Given the description of an element on the screen output the (x, y) to click on. 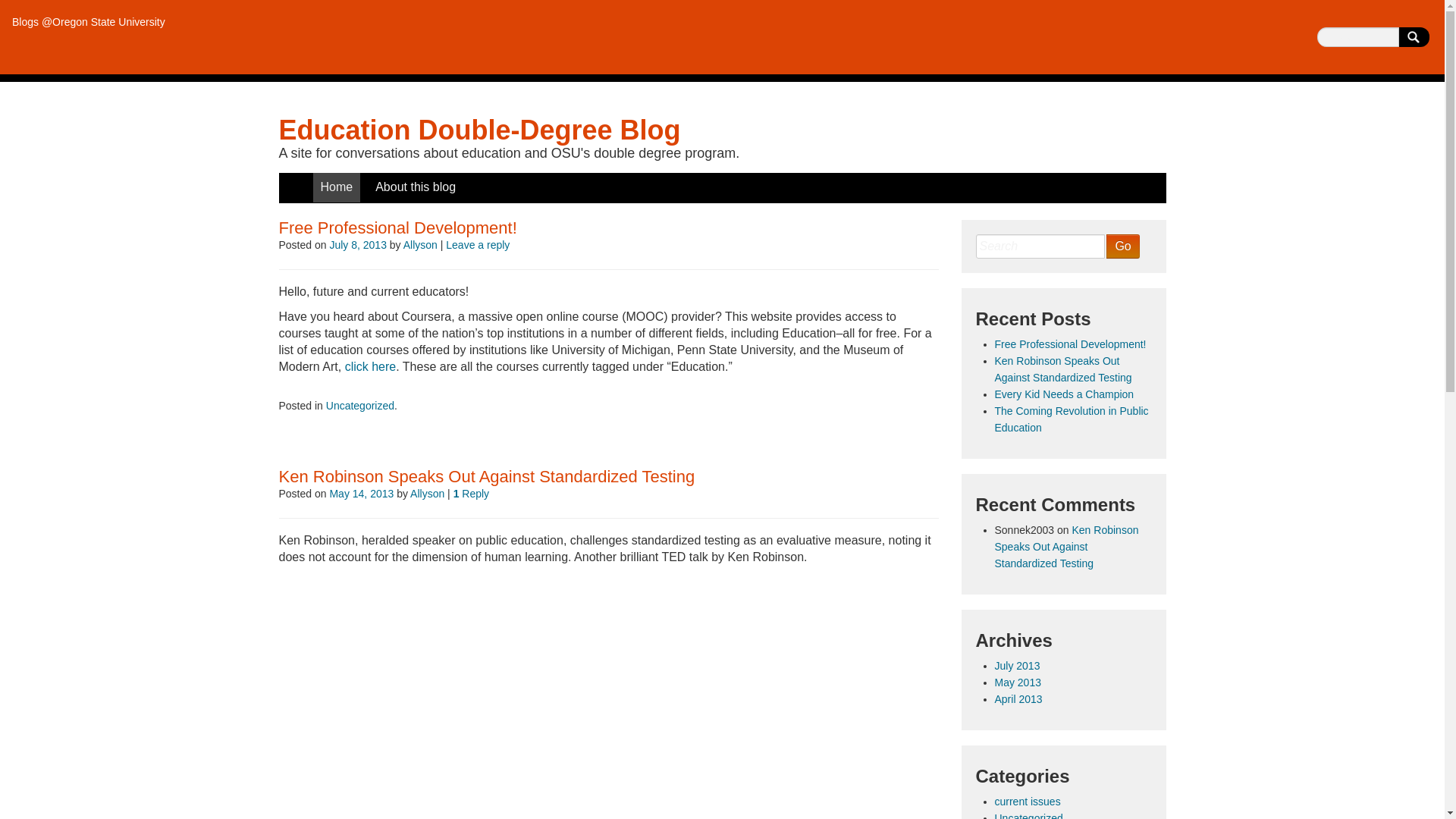
Allyson (427, 493)
Ken Robinson Speaks Out Against Standardized Testing (1063, 369)
Permalink to Free Professional Development! (397, 227)
Home (336, 187)
Ken Robinson Speaks Out Against Standardized Testing (1066, 546)
July 2013 (1017, 665)
Free Professional Development! (1070, 344)
8:15 pm (358, 244)
Ken Robinson Speaks Out Against Standardized Testing (487, 476)
1 Reply (470, 493)
